Given the description of an element on the screen output the (x, y) to click on. 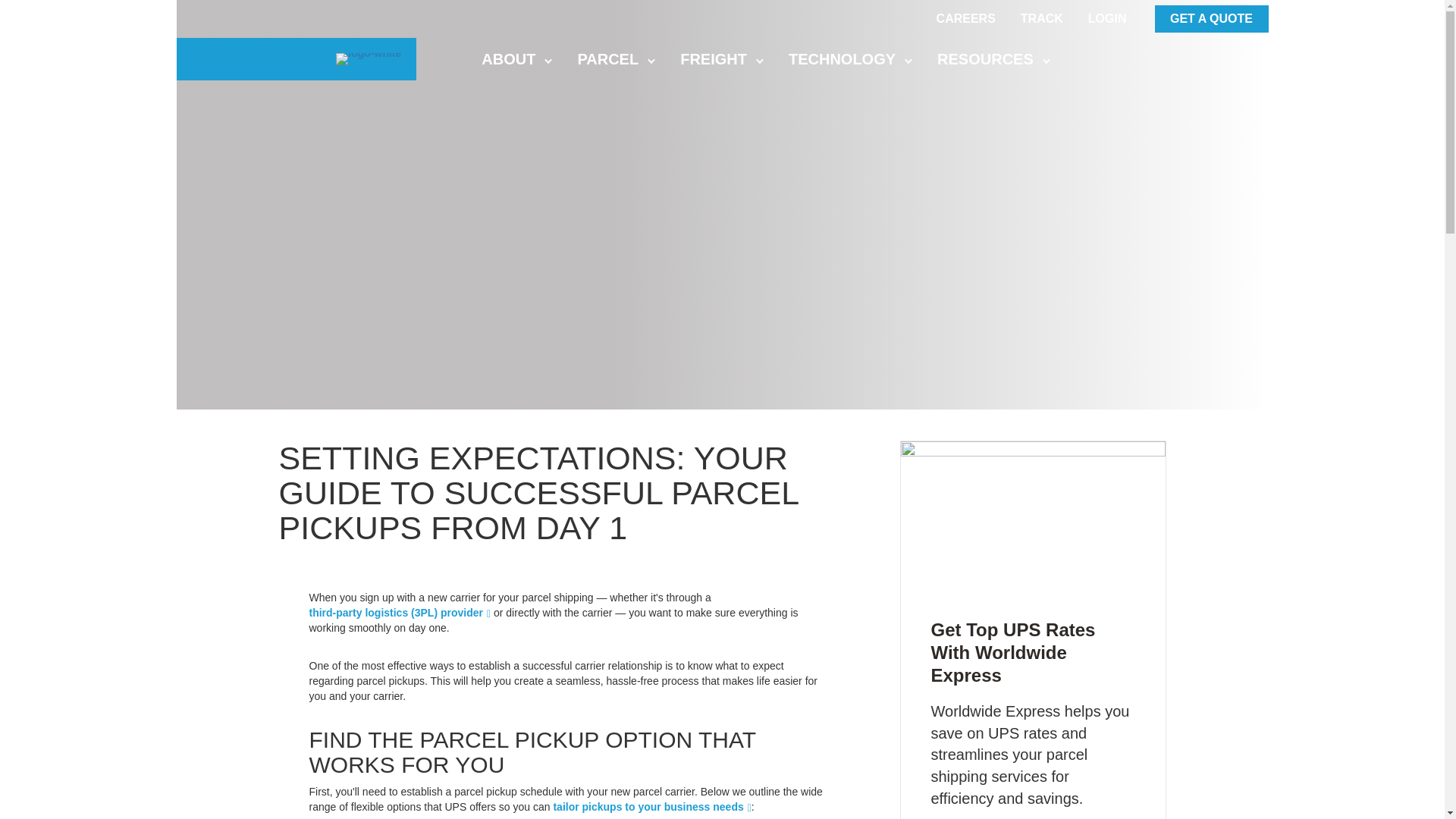
TECHNOLOGY (847, 59)
LOGIN (1106, 19)
FREIGHT (719, 59)
TRACK (1042, 19)
CAREERS (965, 19)
GET A QUOTE (1211, 18)
Get Top UPS Rates and Parcel Shipping Services (1033, 513)
logo-white (368, 59)
LOGIN (1106, 19)
ABOUT (512, 59)
PARCEL (612, 59)
CAREERS (965, 19)
TRACK (1041, 19)
